Given the description of an element on the screen output the (x, y) to click on. 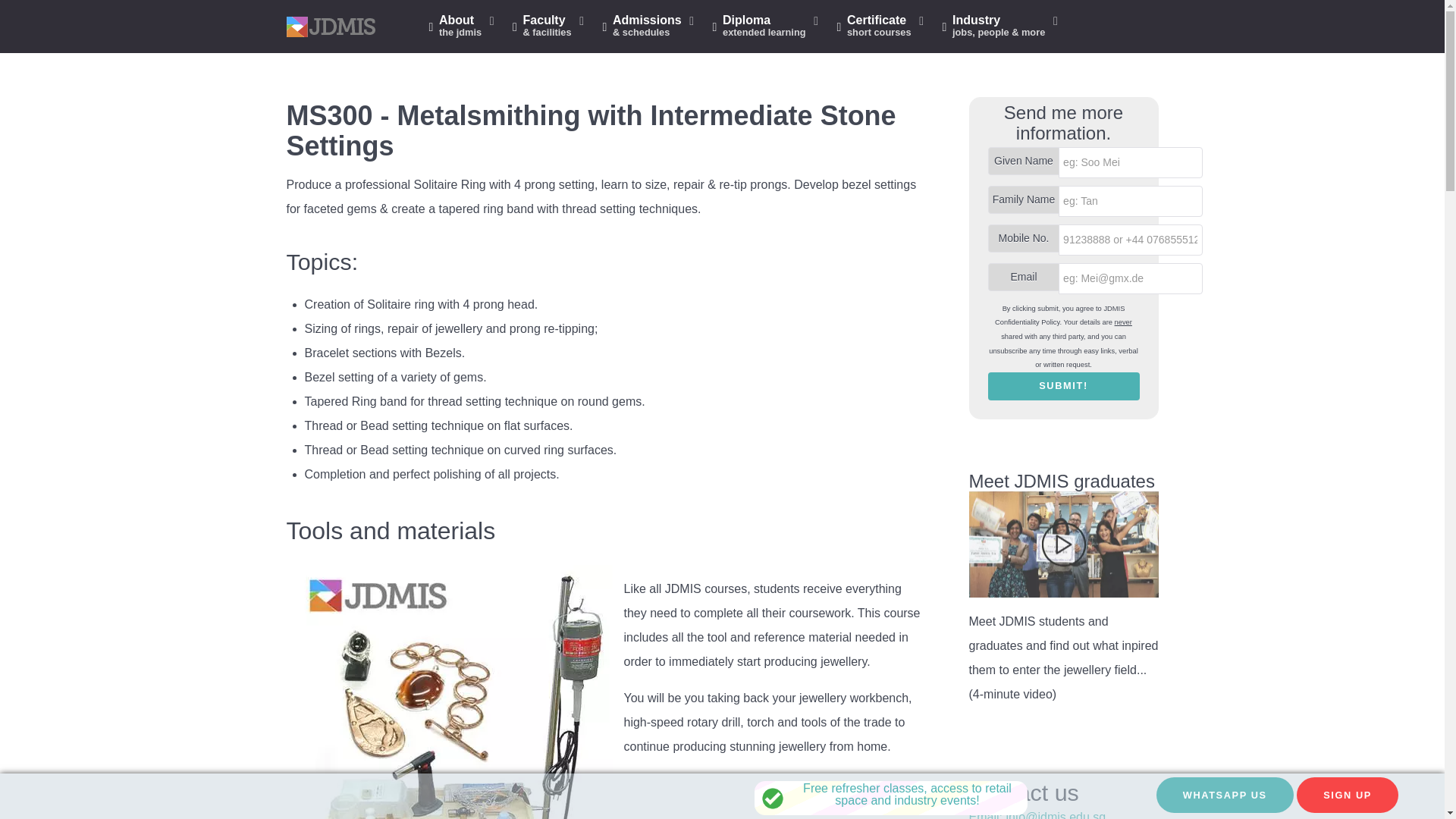
Jewellery Design And Management International School - Logo (880, 26)
Submit! (463, 26)
